Given the description of an element on the screen output the (x, y) to click on. 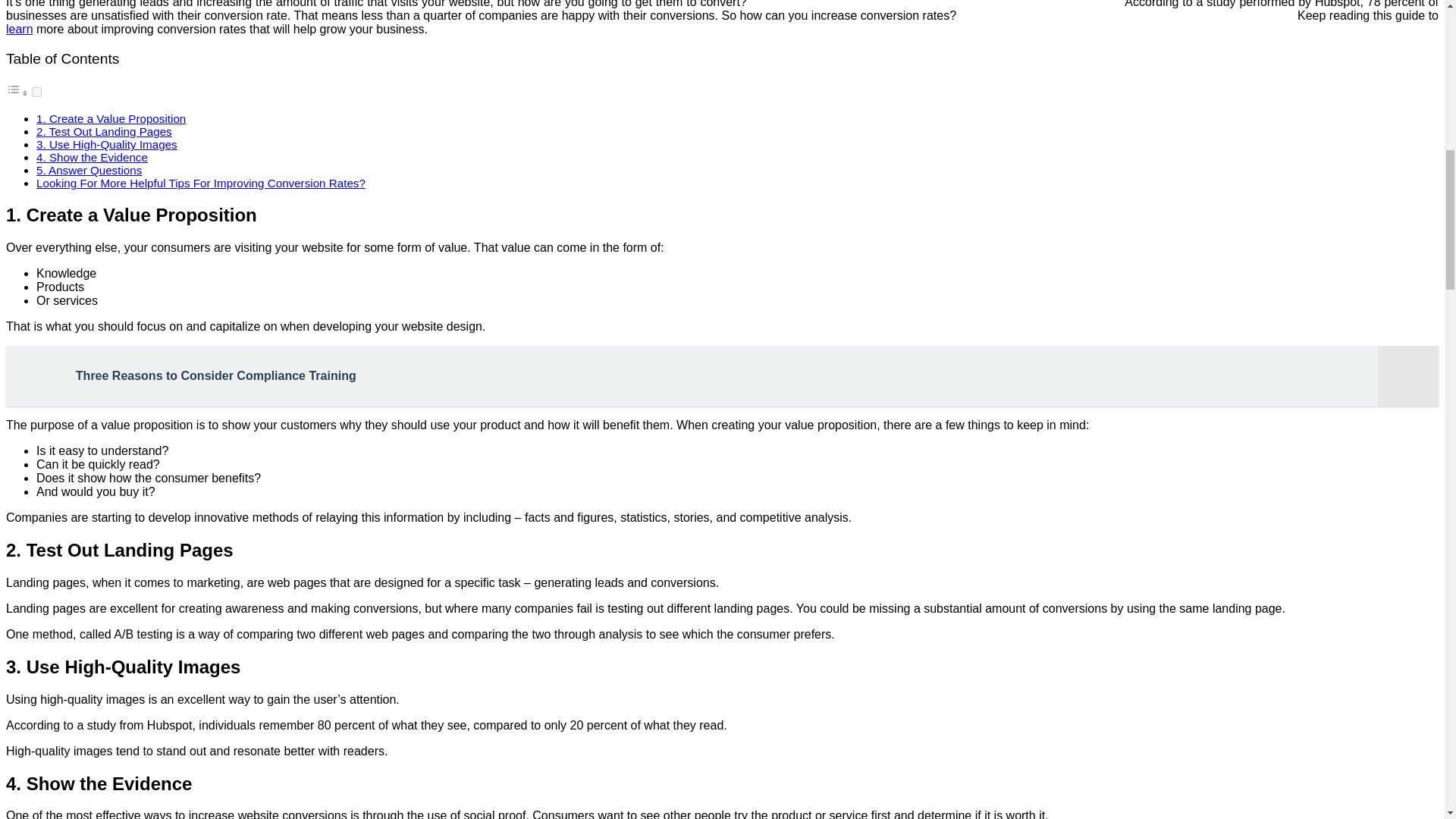
5. Answer Questions (88, 169)
3. Use High-Quality Images (106, 144)
2. Test Out Landing Pages (103, 131)
1. Create a Value Proposition (111, 118)
on (37, 91)
4. Show the Evidence (92, 156)
